Given the description of an element on the screen output the (x, y) to click on. 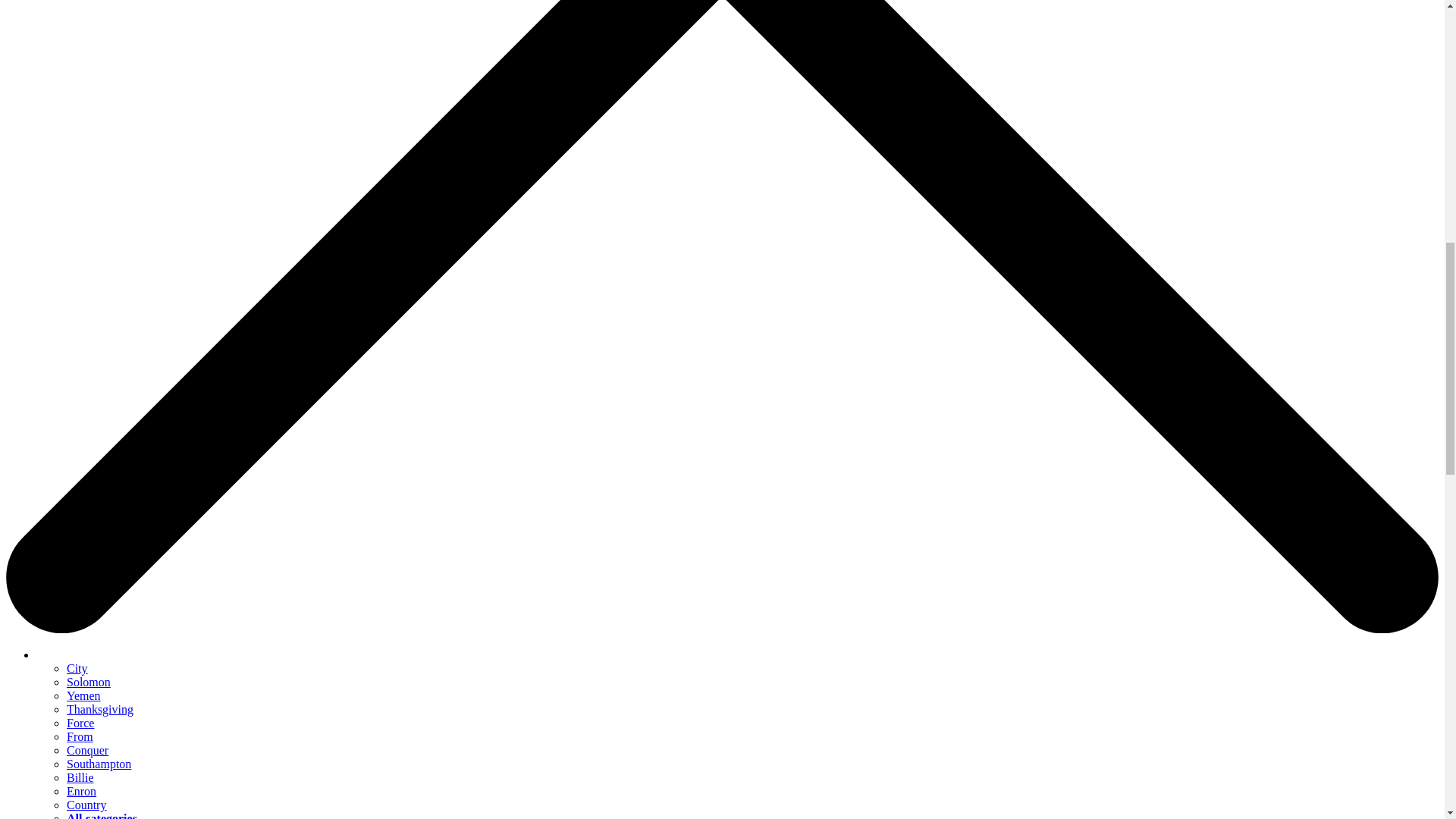
City (76, 667)
Solomon (88, 681)
Yemen (83, 695)
Thanksgiving (99, 708)
Country (86, 804)
Conquer (86, 749)
From (79, 736)
Southampton (98, 763)
Enron (81, 790)
Billie (80, 777)
